Given the description of an element on the screen output the (x, y) to click on. 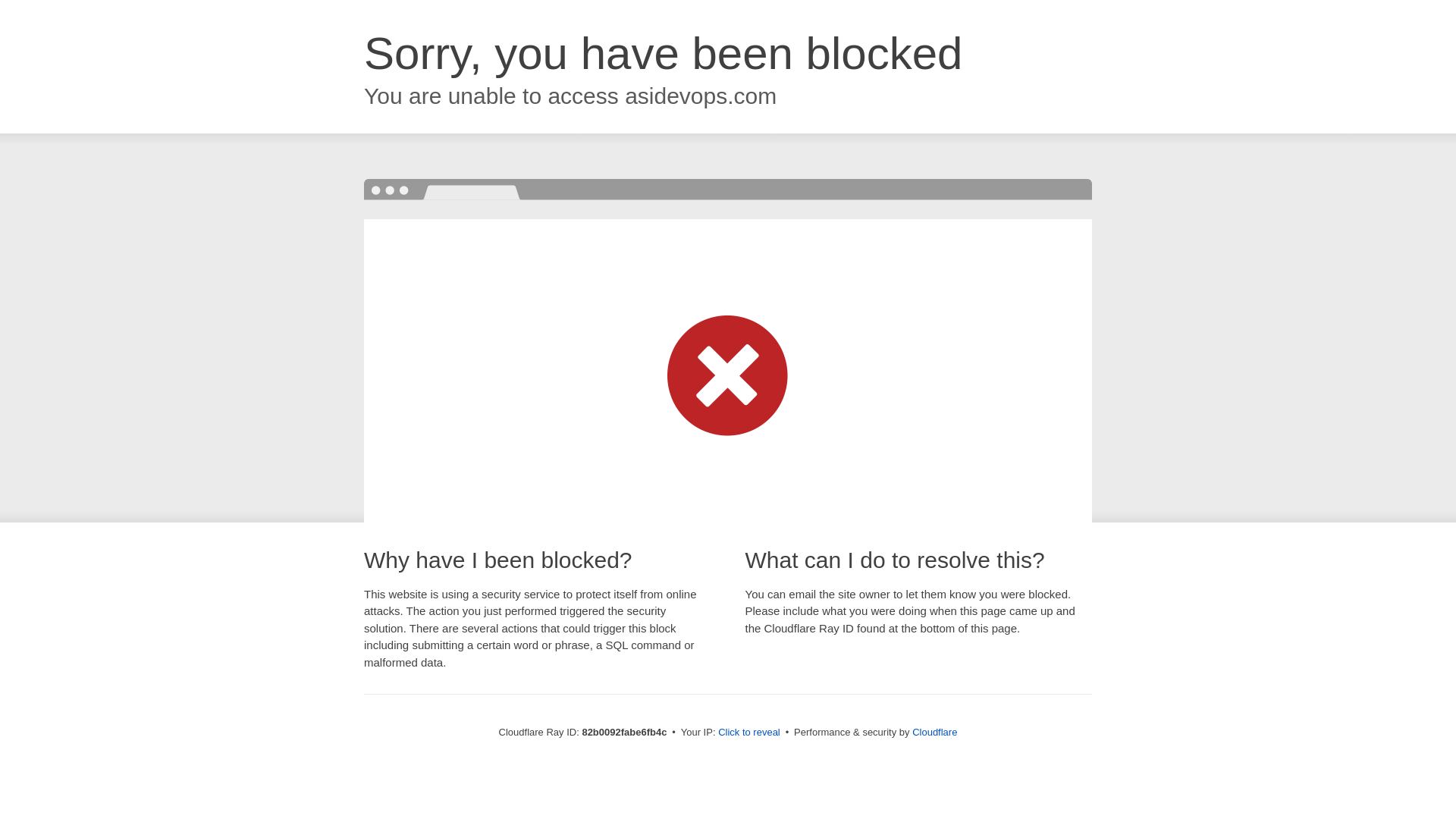
Cloudflare Element type: text (934, 731)
Click to reveal Element type: text (749, 732)
